Given the description of an element on the screen output the (x, y) to click on. 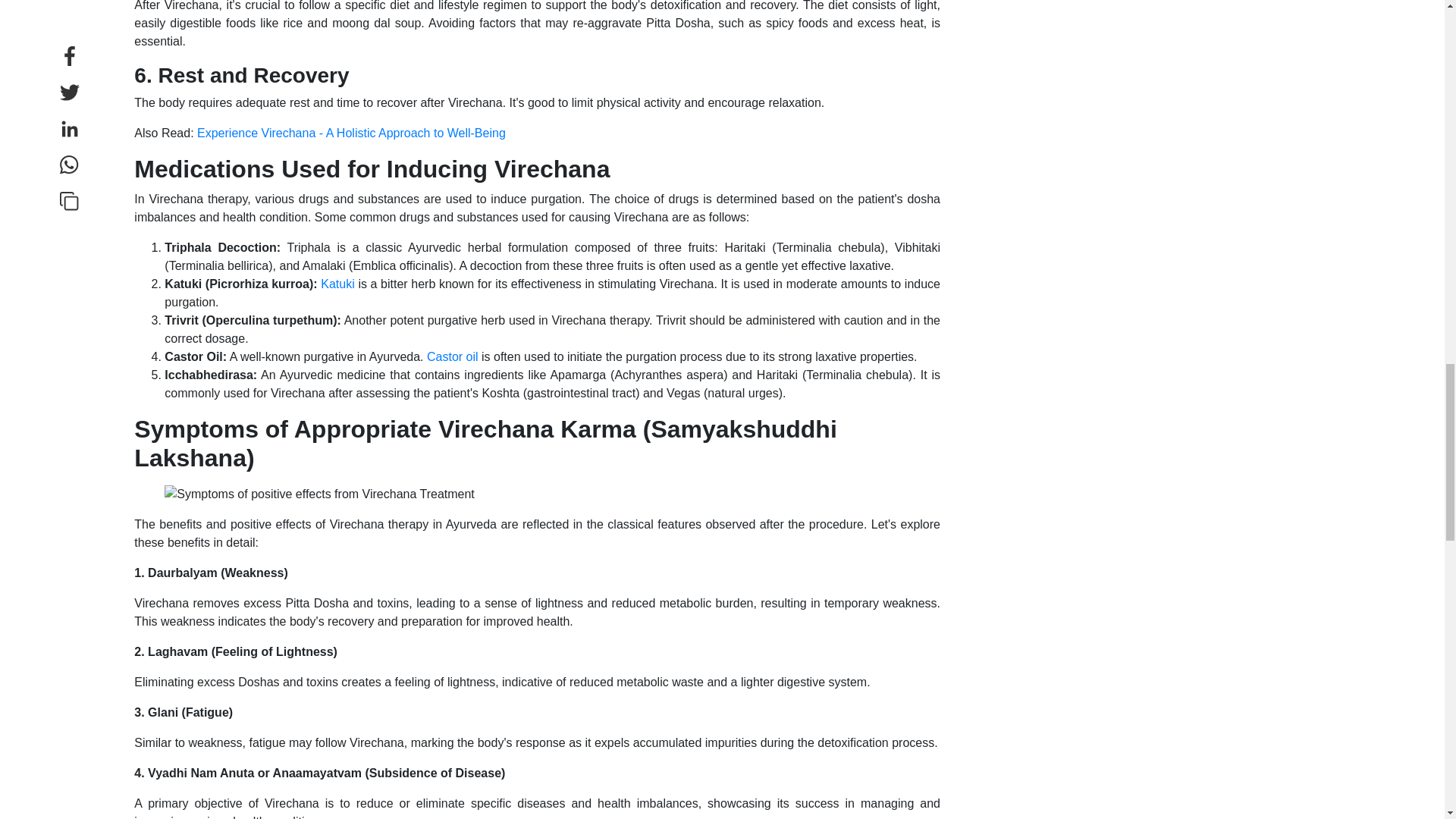
Experience Virechana - A Holistic Approach to Well-Being (350, 132)
Katuki (336, 283)
Castor oil (452, 356)
